Given the description of an element on the screen output the (x, y) to click on. 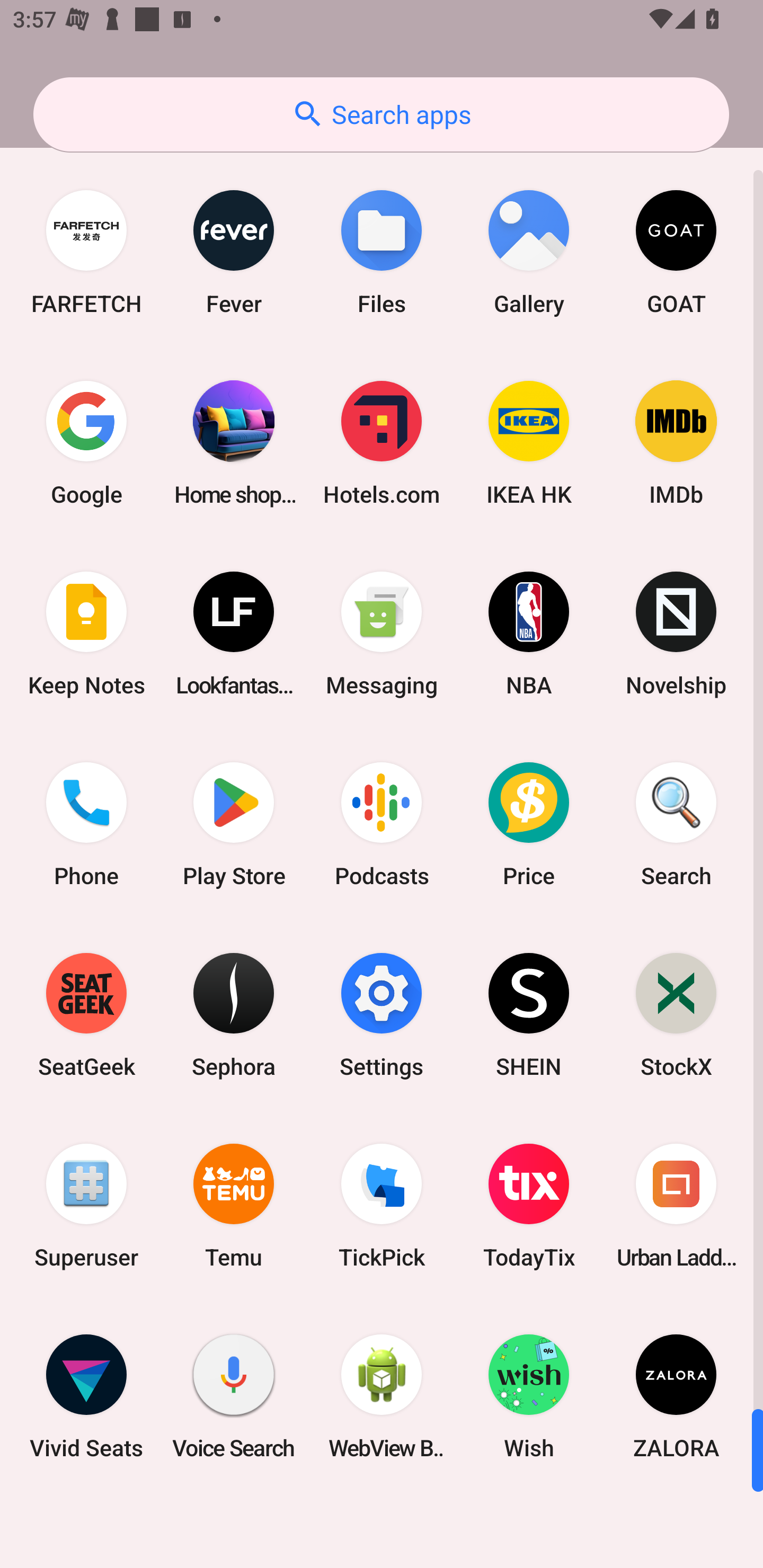
  Search apps (381, 114)
FARFETCH (86, 252)
Fever (233, 252)
Files (381, 252)
Gallery (528, 252)
GOAT (676, 252)
Google (86, 442)
Home shopping (233, 442)
Hotels.com (381, 442)
IKEA HK (528, 442)
IMDb (676, 442)
Keep Notes (86, 633)
Lookfantastic (233, 633)
Messaging (381, 633)
NBA (528, 633)
Novelship (676, 633)
Phone (86, 823)
Play Store (233, 823)
Podcasts (381, 823)
Price (528, 823)
Search (676, 823)
SeatGeek (86, 1014)
Sephora (233, 1014)
Settings (381, 1014)
SHEIN (528, 1014)
StockX (676, 1014)
Superuser (86, 1205)
Temu (233, 1205)
TickPick (381, 1205)
TodayTix (528, 1205)
Urban Ladder (676, 1205)
Vivid Seats (86, 1396)
Voice Search (233, 1396)
WebView Browser Tester (381, 1396)
Wish (528, 1396)
ZALORA (676, 1396)
